Given the description of an element on the screen output the (x, y) to click on. 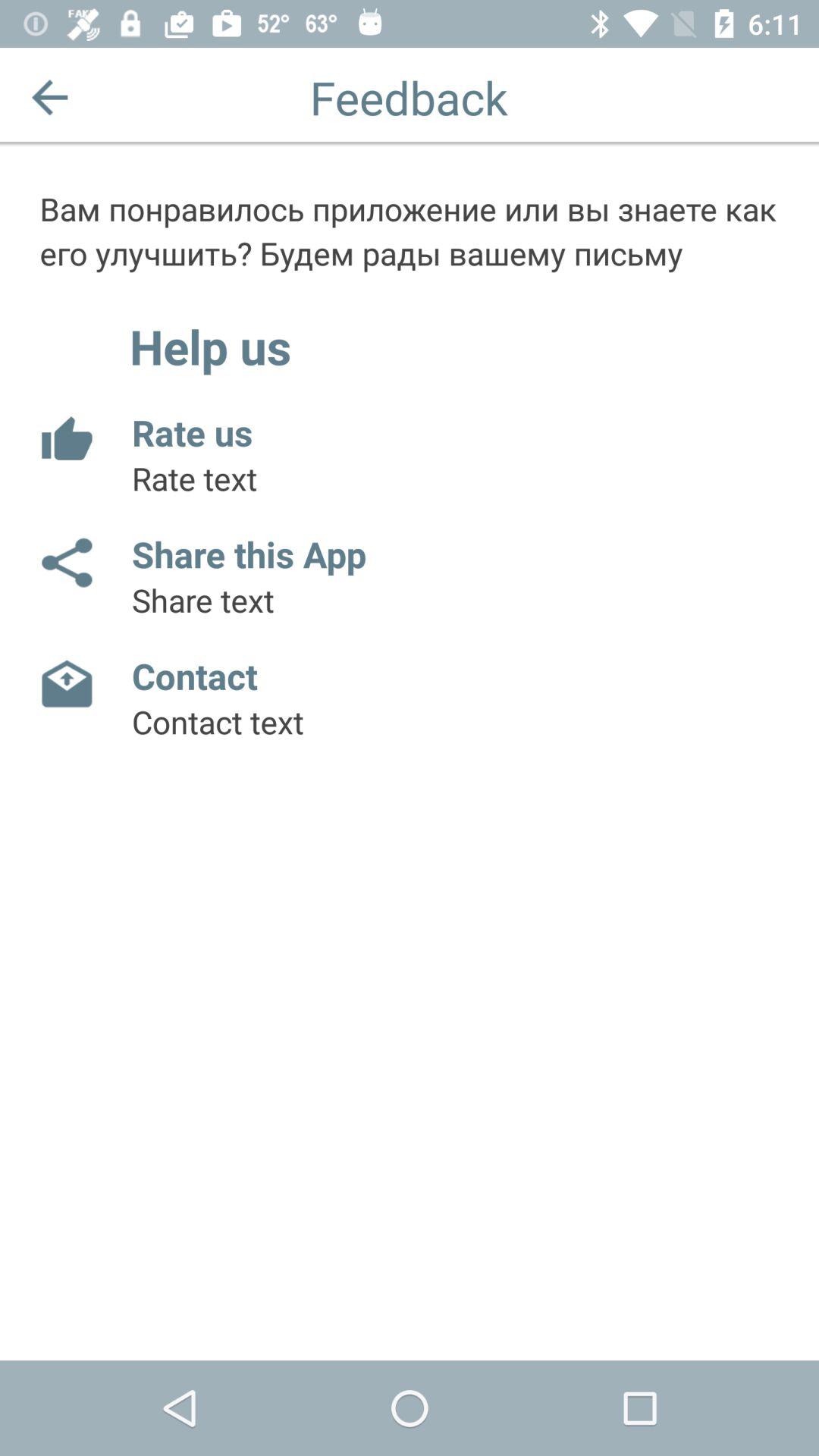
choose the item next to the share this app (65, 562)
